Given the description of an element on the screen output the (x, y) to click on. 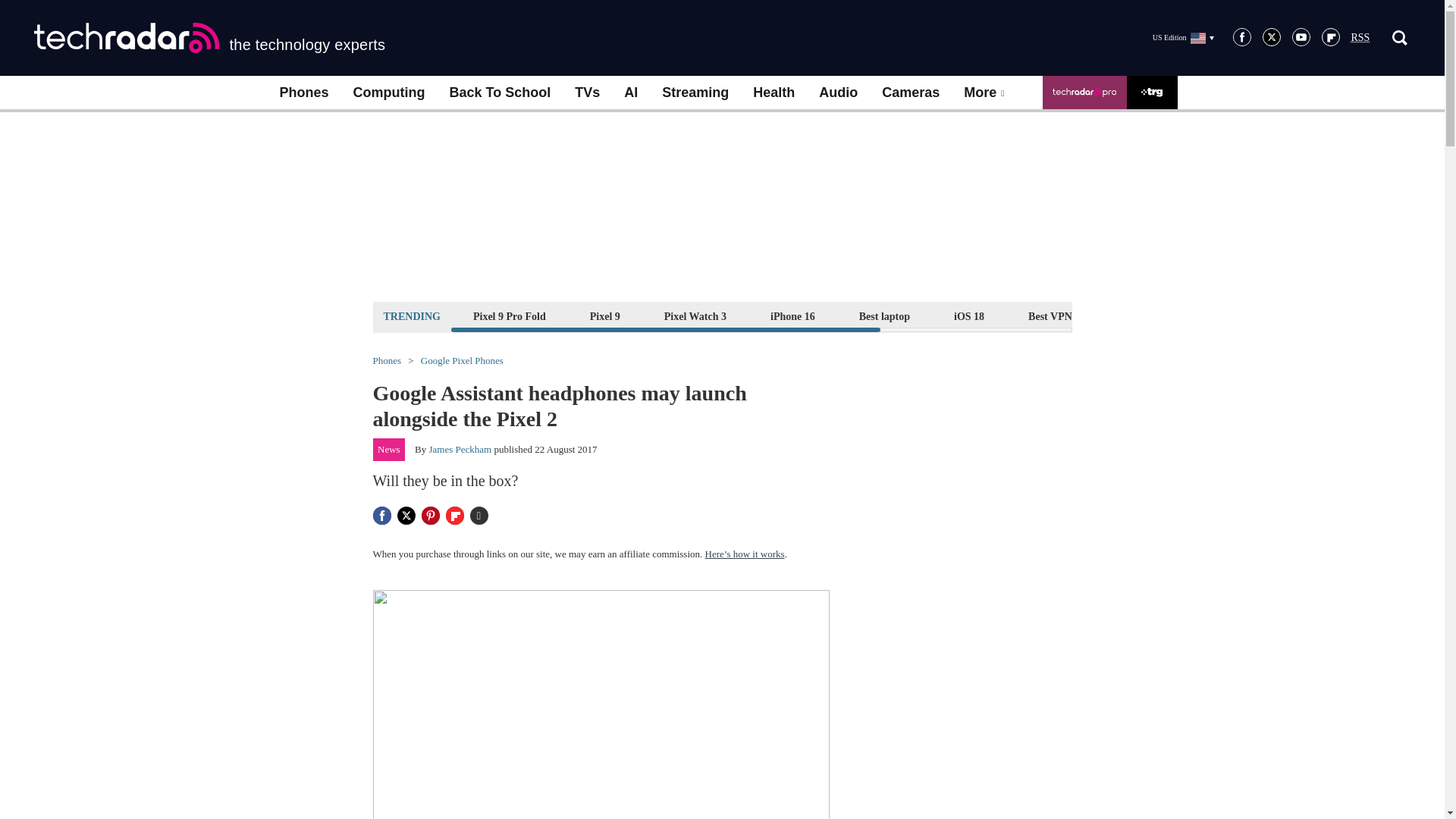
Cameras (910, 92)
Back To School (499, 92)
AI (630, 92)
Audio (837, 92)
US Edition (1182, 37)
Phones (303, 92)
the technology experts (209, 38)
Computing (389, 92)
TVs (586, 92)
Really Simple Syndication (1360, 37)
